Given the description of an element on the screen output the (x, y) to click on. 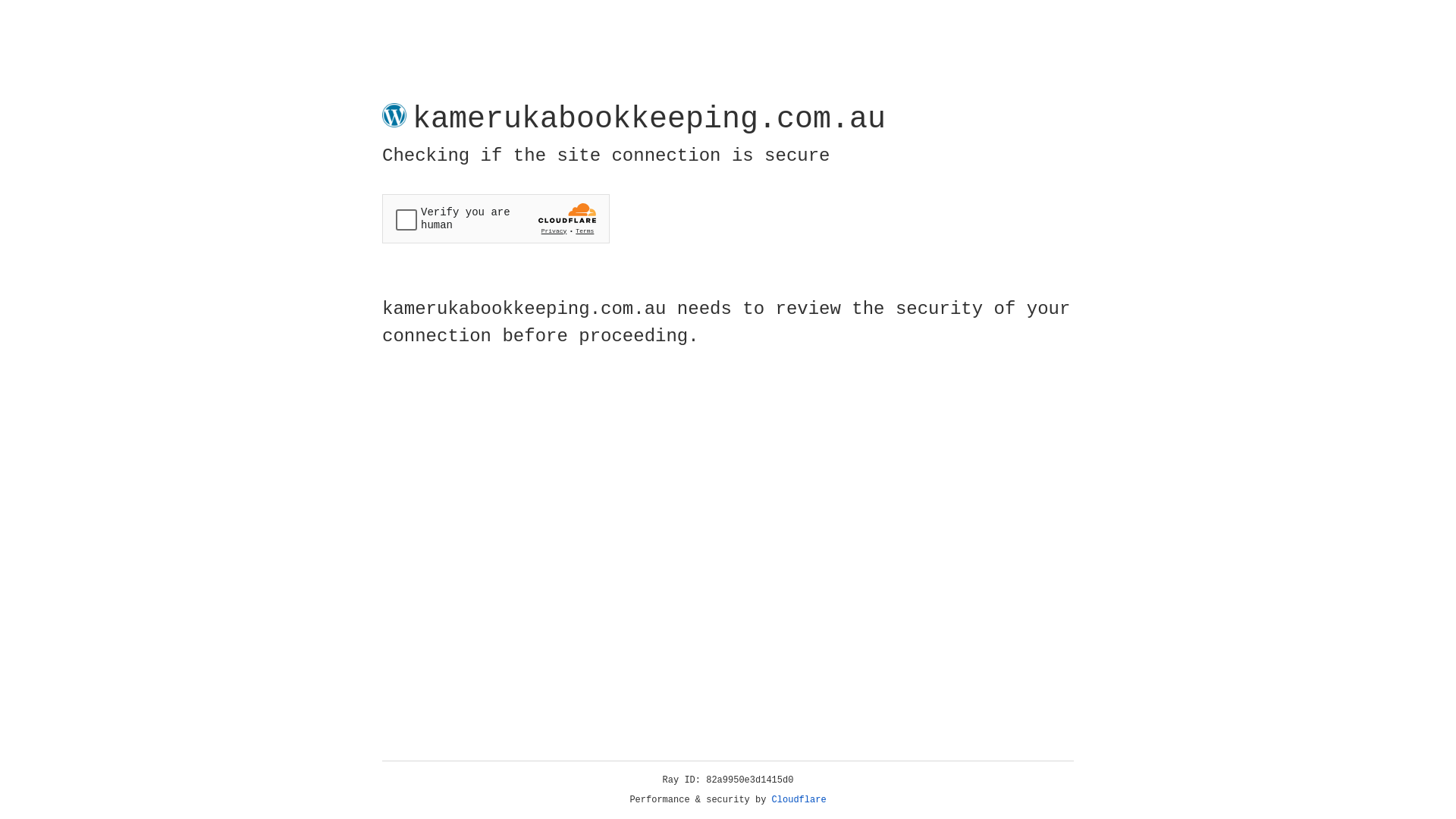
Widget containing a Cloudflare security challenge Element type: hover (495, 218)
Cloudflare Element type: text (798, 799)
